Given the description of an element on the screen output the (x, y) to click on. 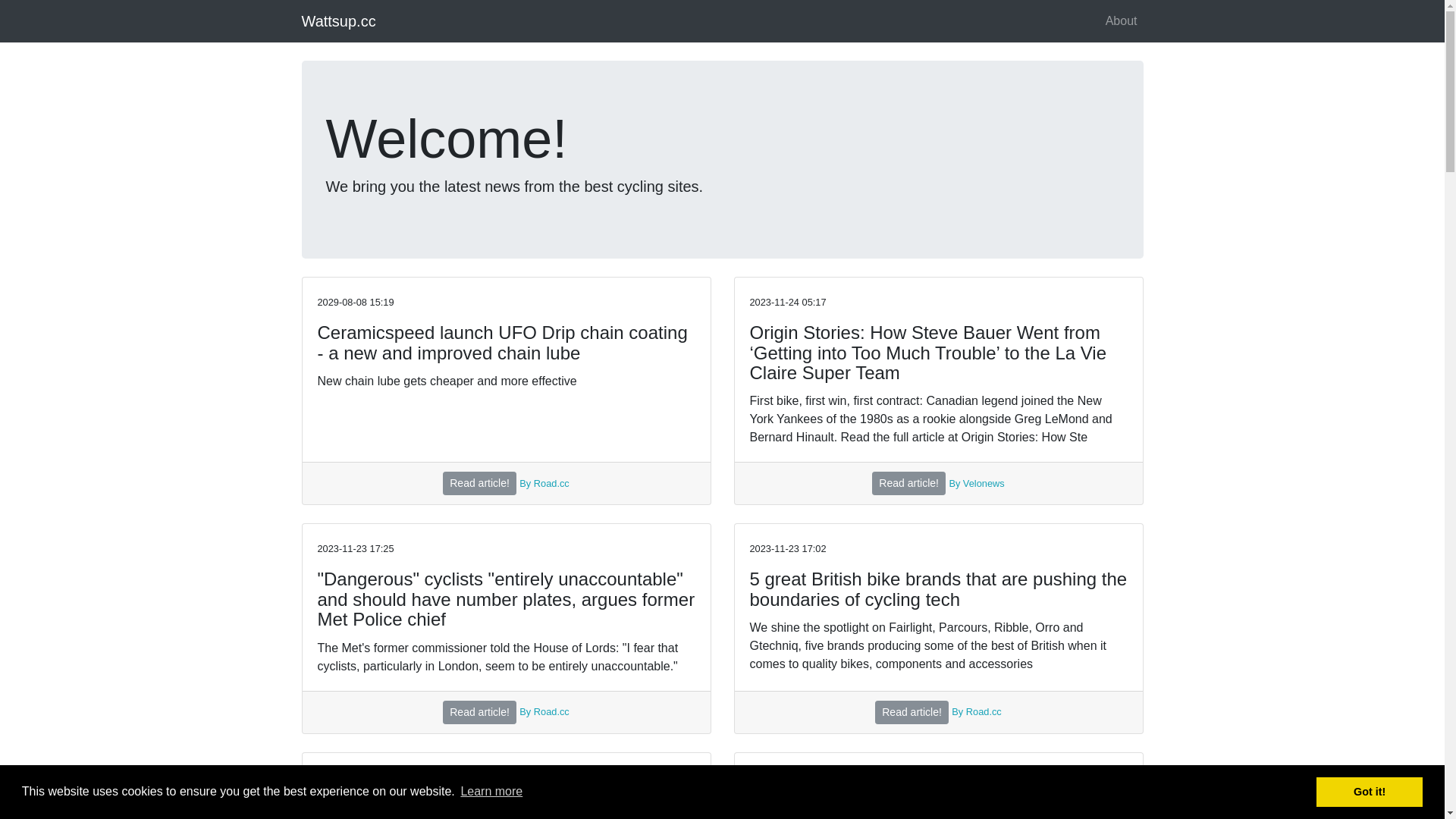
Read article! Element type: text (908, 483)
Read article! Element type: text (479, 483)
Read article! Element type: text (479, 712)
About Element type: text (1121, 21)
Learn more Element type: text (491, 791)
Read article! Element type: text (911, 712)
Got it! Element type: text (1369, 791)
Wattsup.cc Element type: text (338, 21)
